Given the description of an element on the screen output the (x, y) to click on. 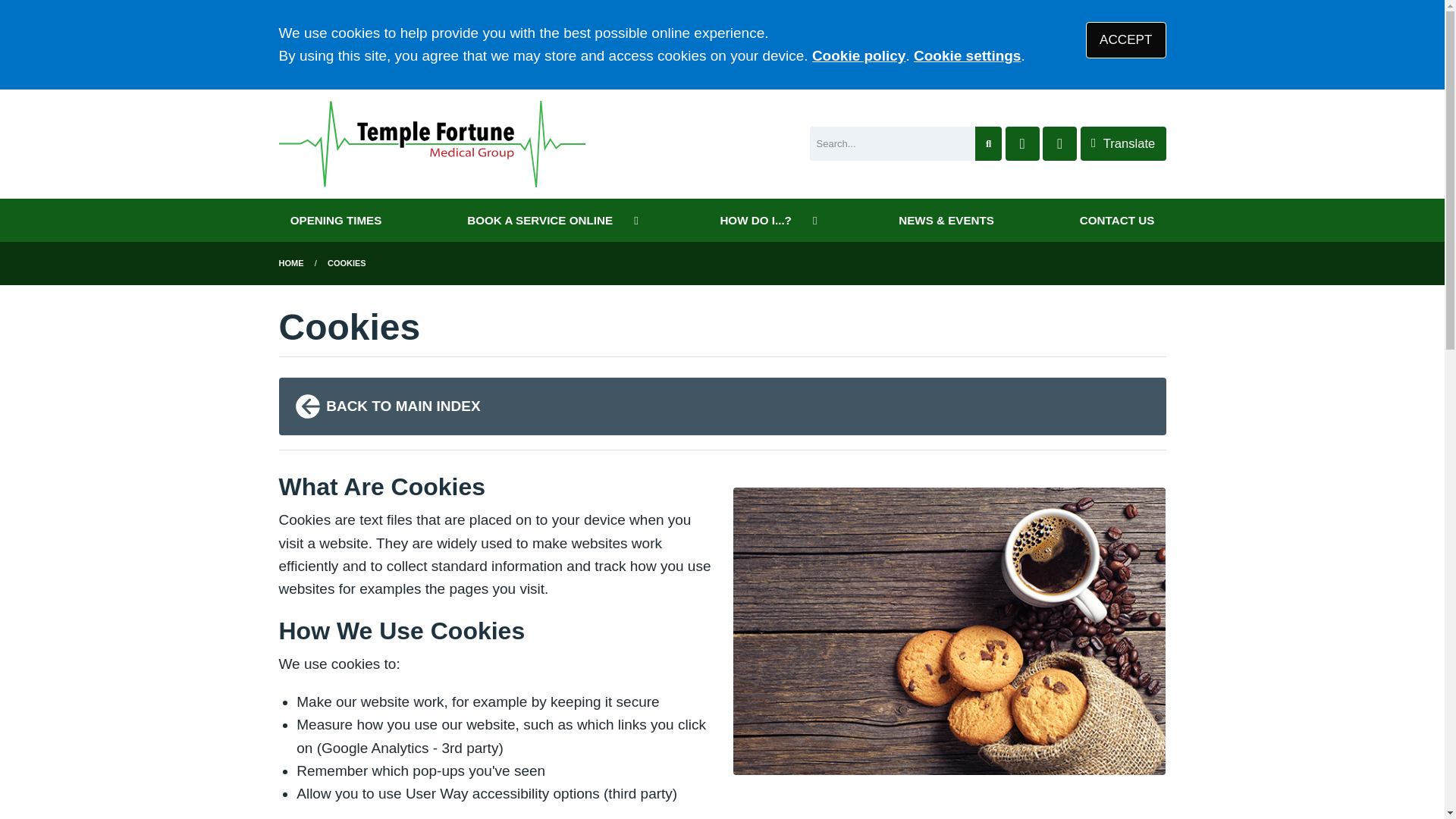
HOME (291, 262)
ACCEPT (1126, 39)
BOOK A SERVICE ONLINE (550, 220)
CONTACT US (1117, 220)
OPENING TIMES (336, 220)
BACK TO MAIN INDEX (722, 405)
Cookie policy (858, 55)
HOW DO I...? (765, 220)
Cookie settings (967, 55)
COOKIES (346, 262)
